Given the description of an element on the screen output the (x, y) to click on. 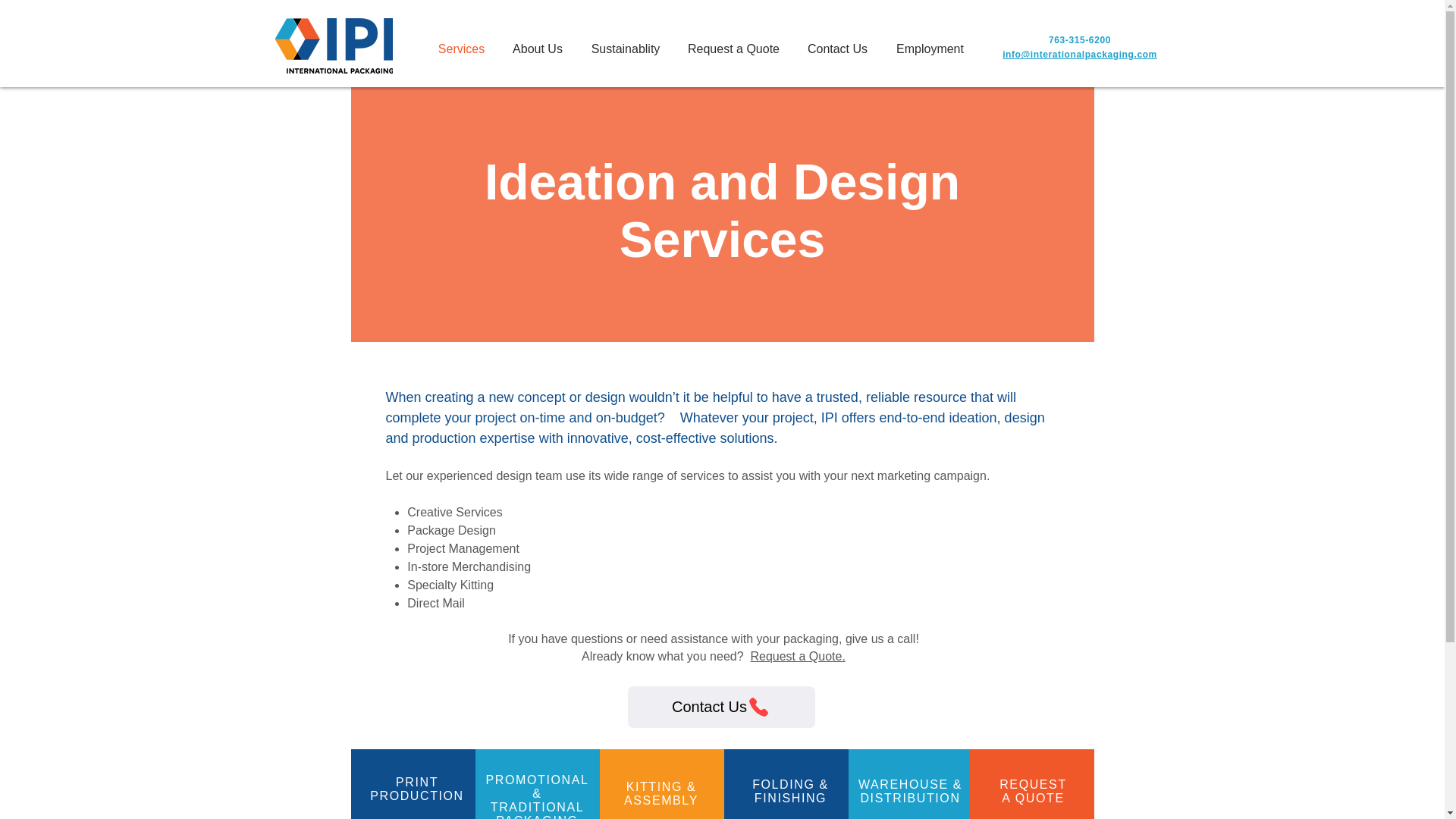
Request a Quote (732, 48)
About Us (536, 48)
Contact Us (836, 48)
Request a Quote. (1032, 791)
Services (796, 656)
763-315-6200 (461, 48)
Contact Us (416, 788)
Sustainablity (1079, 40)
Employment (721, 707)
